Given the description of an element on the screen output the (x, y) to click on. 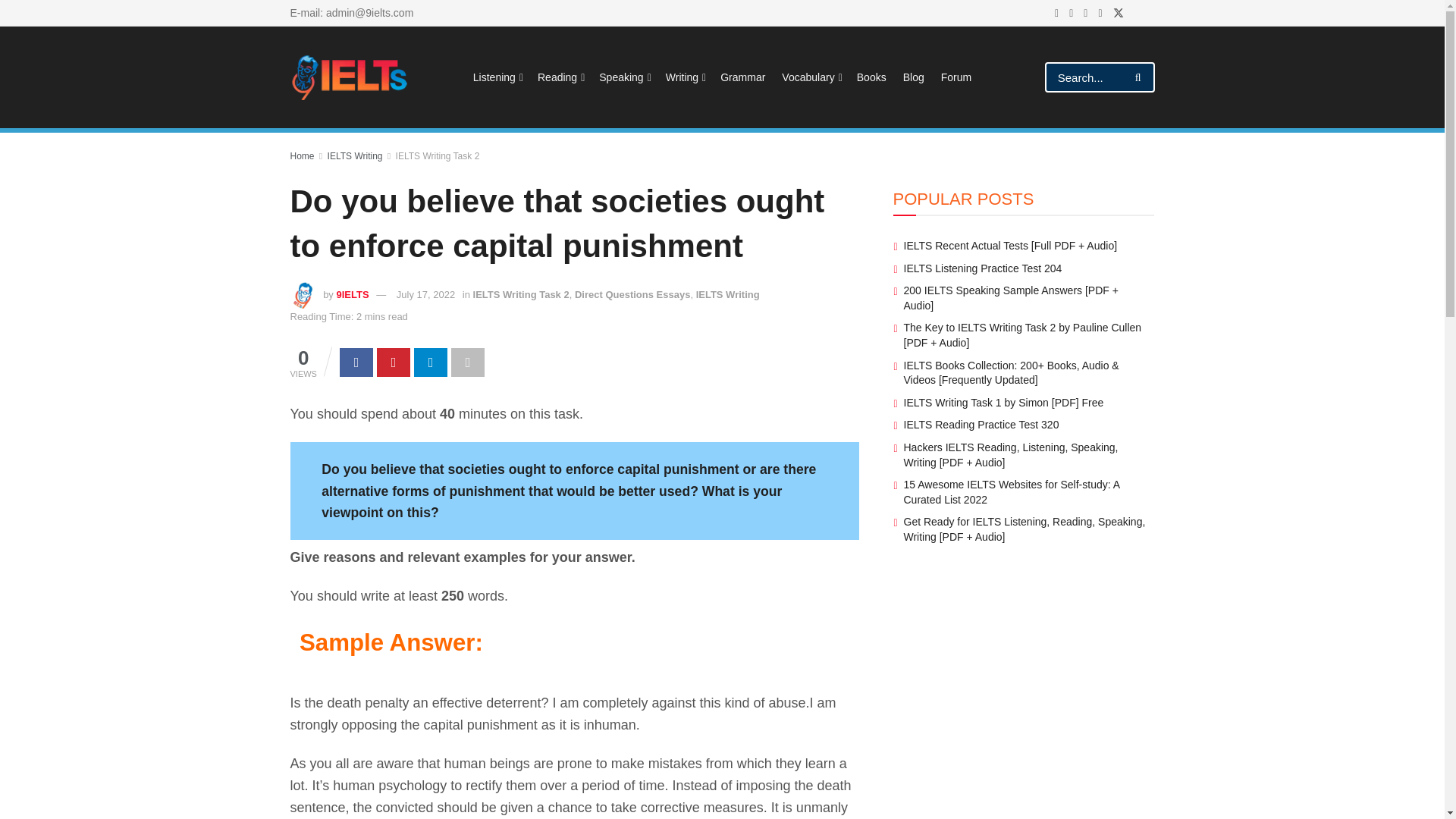
Grammar (742, 76)
Listening (497, 76)
Speaking (623, 76)
Vocabulary (810, 76)
Reading (559, 76)
